Given the description of an element on the screen output the (x, y) to click on. 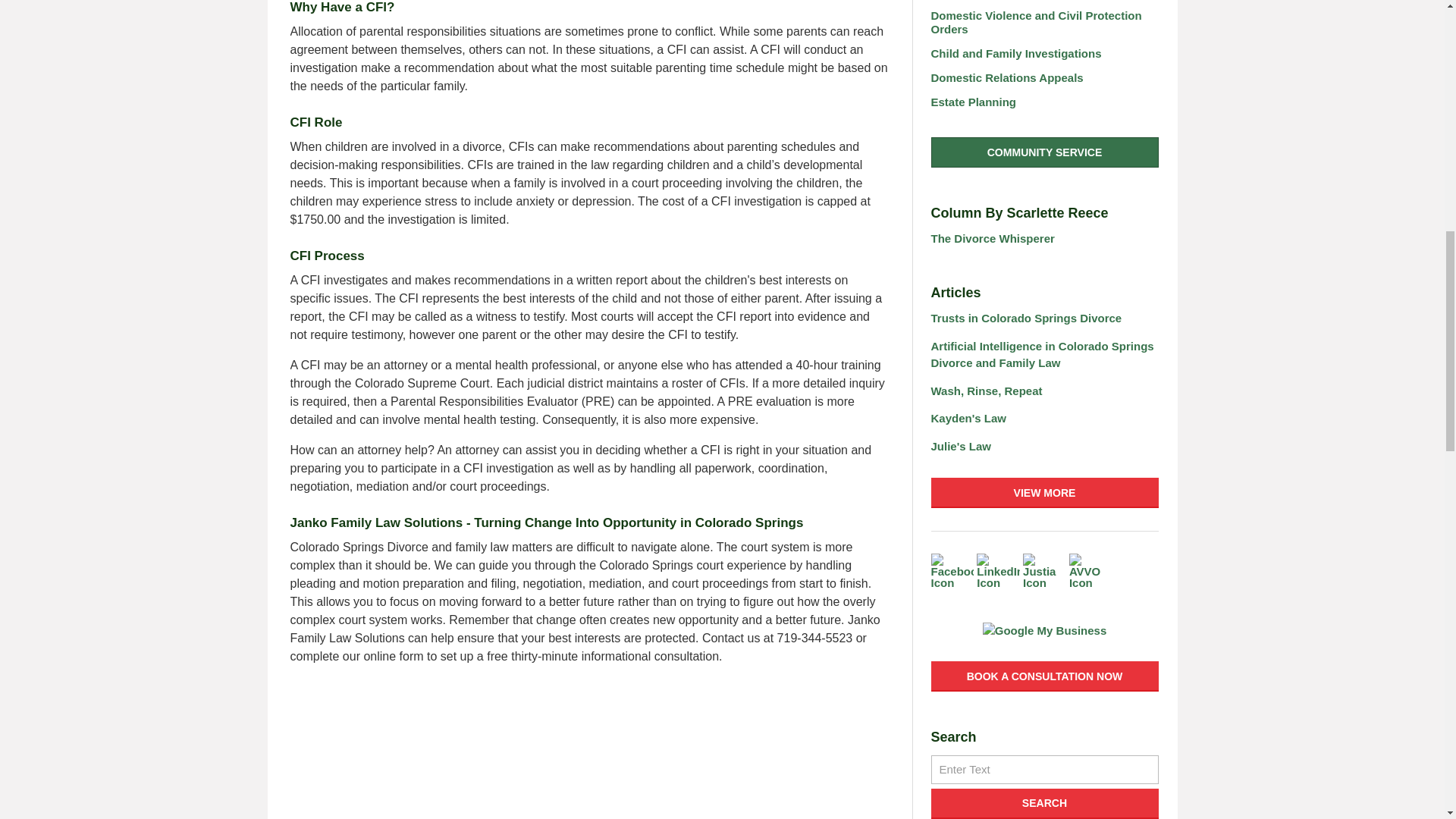
AVVO (1090, 575)
LinkedIn (998, 575)
Search (1044, 769)
Facebook (952, 575)
Justia (1044, 575)
